Given the description of an element on the screen output the (x, y) to click on. 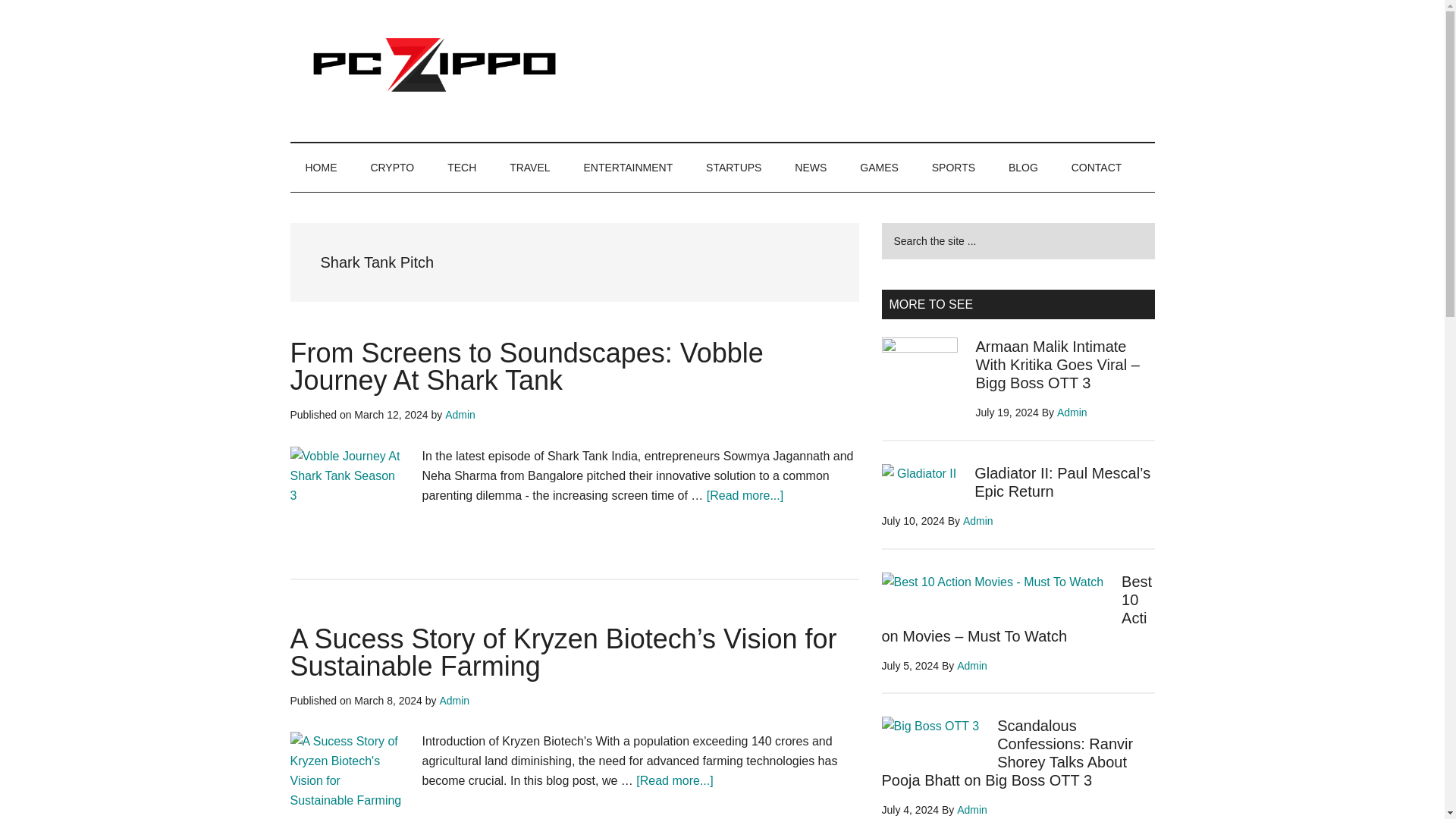
Admin (453, 700)
GAMES (879, 167)
HOME (320, 167)
CRYPTO (392, 167)
Admin (460, 414)
STARTUPS (733, 167)
ENTERTAINMENT (627, 167)
SPORTS (953, 167)
CONTACT (1097, 167)
TRAVEL (529, 167)
NEWS (809, 167)
BLOG (1022, 167)
